Given the description of an element on the screen output the (x, y) to click on. 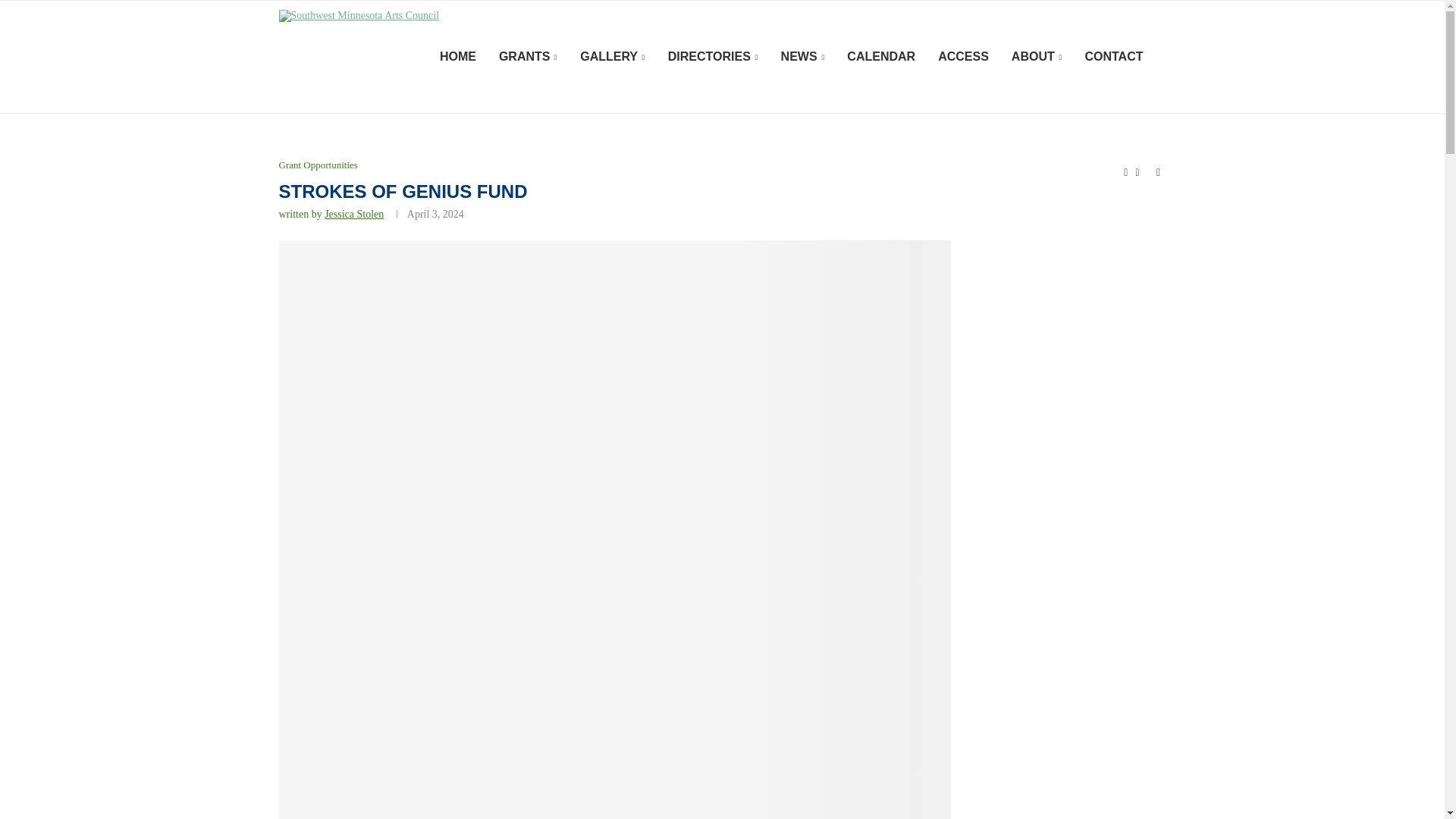
Grant Opportunities (318, 164)
